Given the description of an element on the screen output the (x, y) to click on. 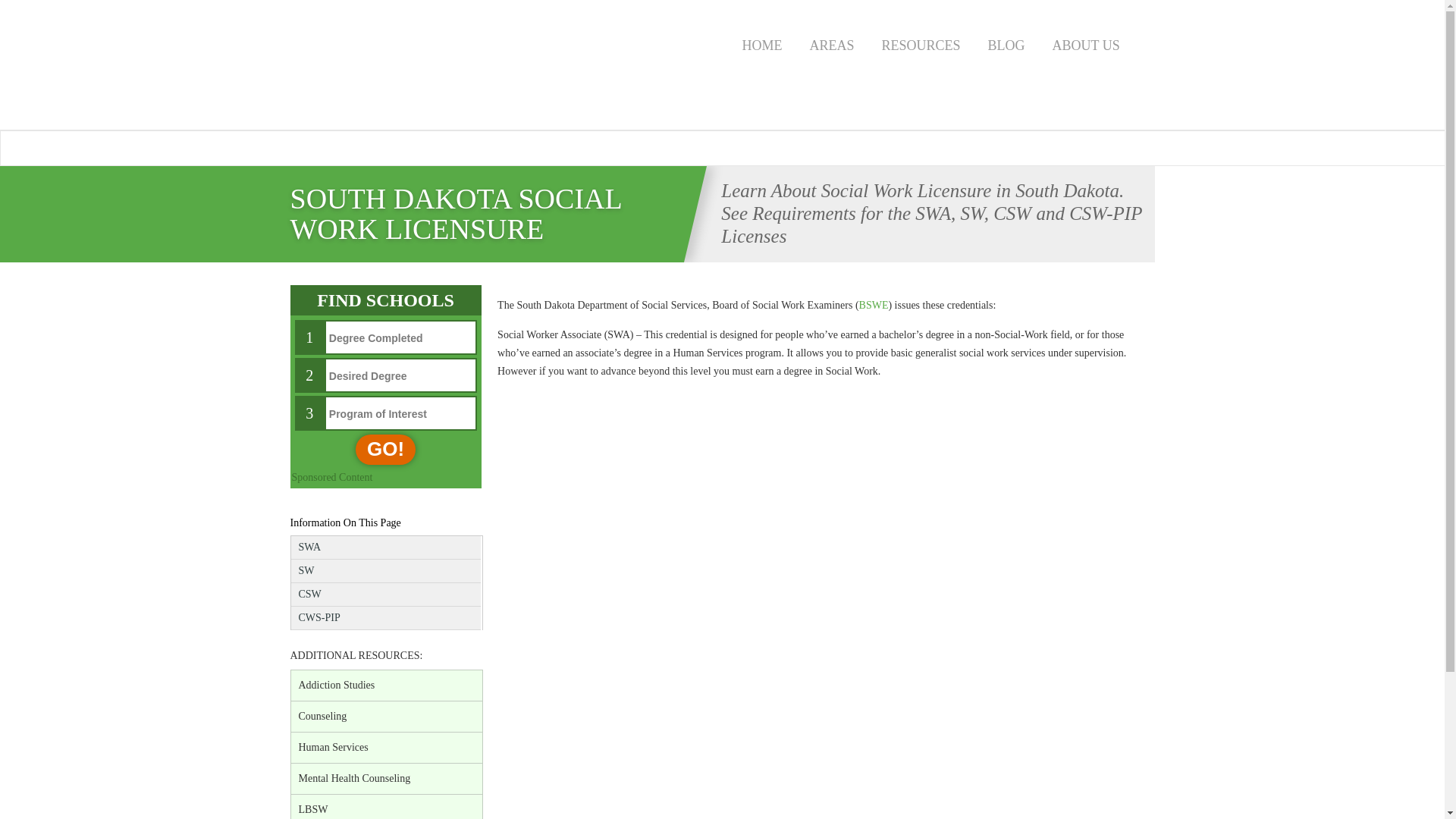
Go to Home. (387, 267)
AREAS (831, 43)
HOME (761, 43)
